Given the description of an element on the screen output the (x, y) to click on. 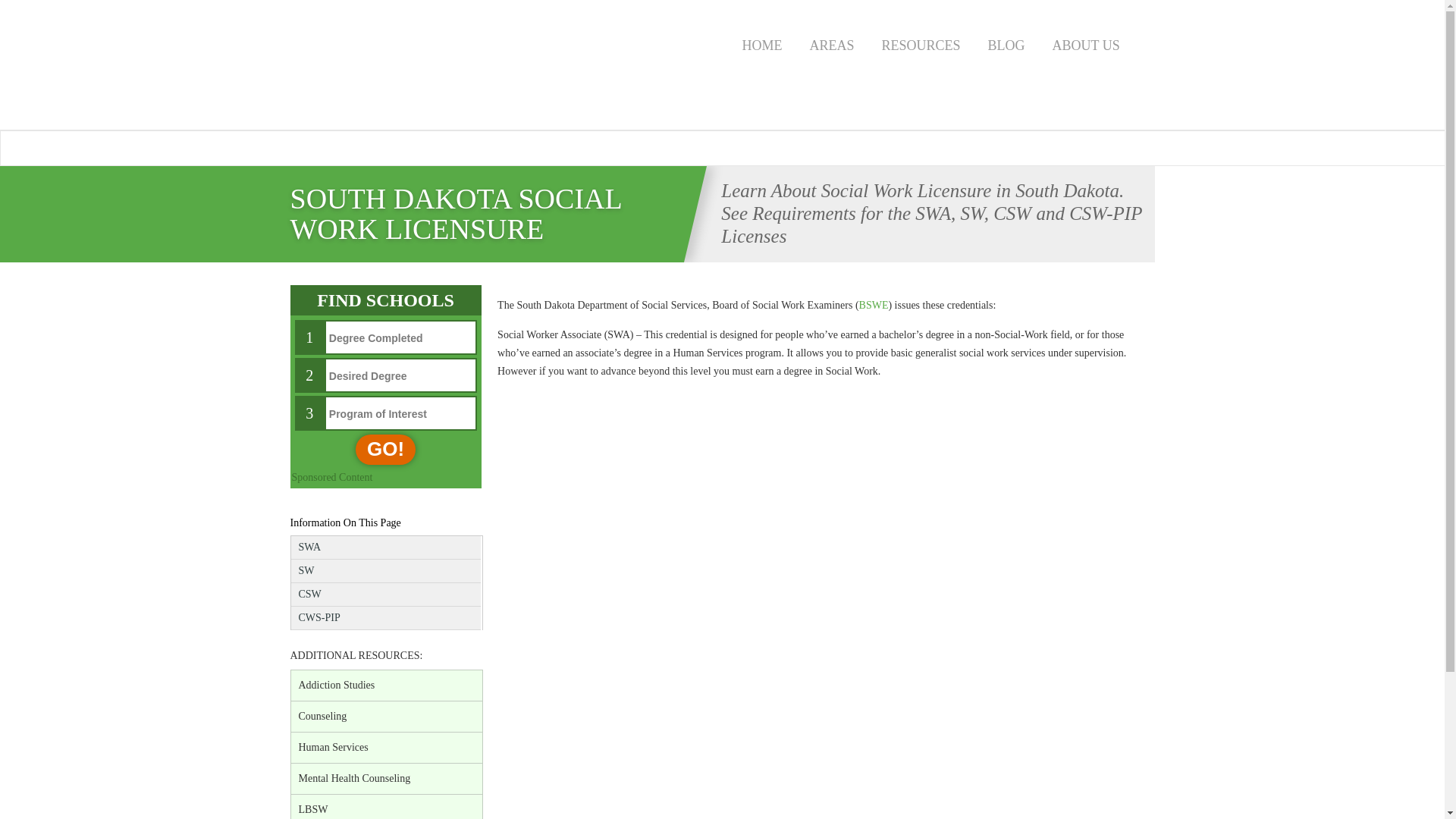
Go to Home. (387, 267)
AREAS (831, 43)
HOME (761, 43)
